Given the description of an element on the screen output the (x, y) to click on. 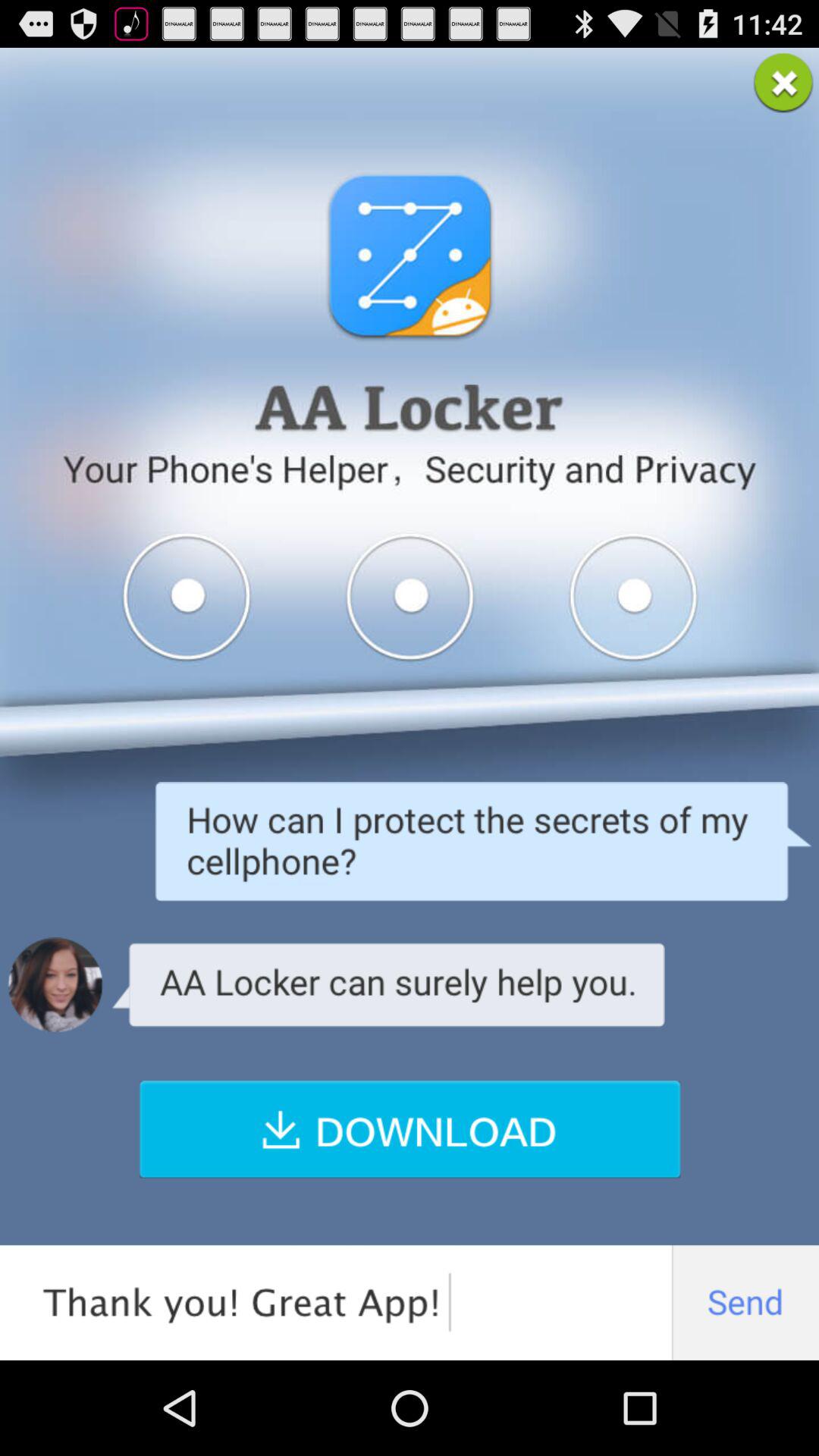
close the app (783, 83)
